Given the description of an element on the screen output the (x, y) to click on. 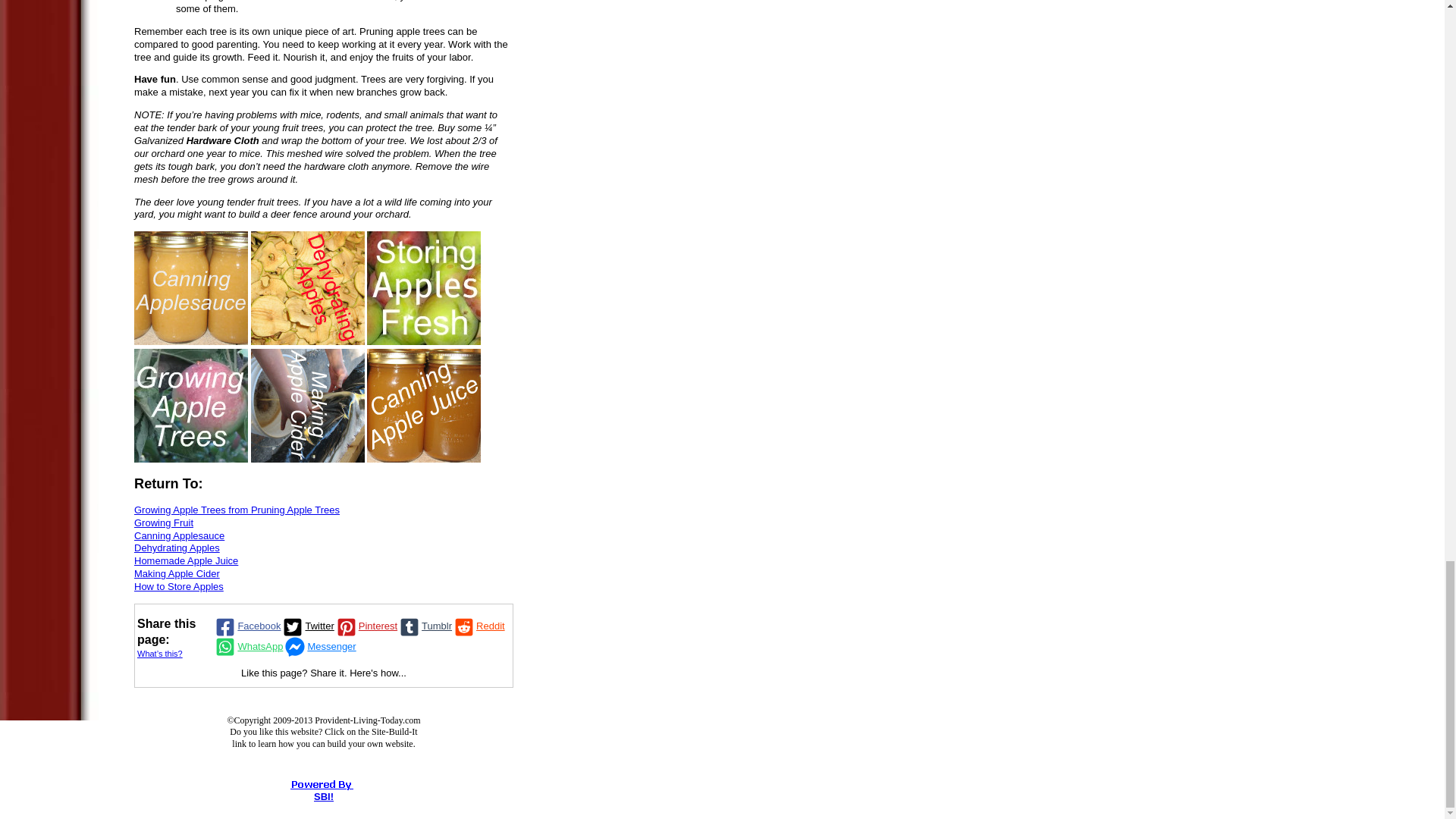
Canning Applesauce (190, 287)
Homemade Apple Cider (307, 405)
Storing Fresh Apples (423, 287)
Homemade Apple Juice (423, 405)
Growing Apple Trees (190, 405)
Dehydrating Apples (307, 287)
